Given the description of an element on the screen output the (x, y) to click on. 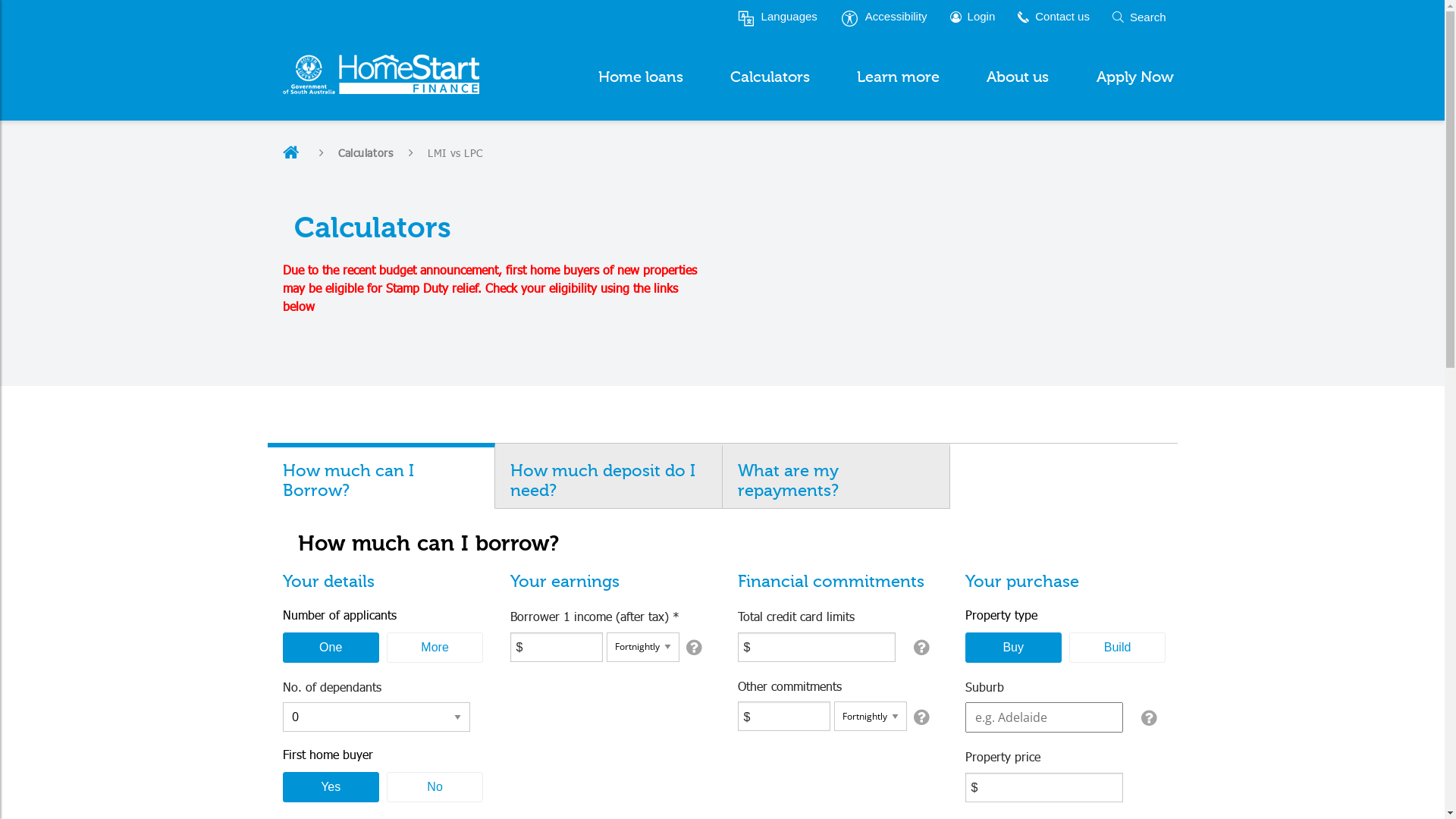
How much deposit do I need? Element type: text (607, 477)
Apply Now Element type: text (1134, 76)
Accessibility Element type: text (883, 16)
Languages Element type: text (776, 16)
Contact us Element type: text (1053, 16)
About us Element type: text (1017, 76)
Learn more Element type: text (898, 76)
How much can I Borrow? Element type: text (379, 477)
Home loans Element type: text (640, 76)
Calculators Element type: text (769, 76)
What are my repayments? Element type: text (834, 477)
Login Element type: text (972, 16)
